Given the description of an element on the screen output the (x, y) to click on. 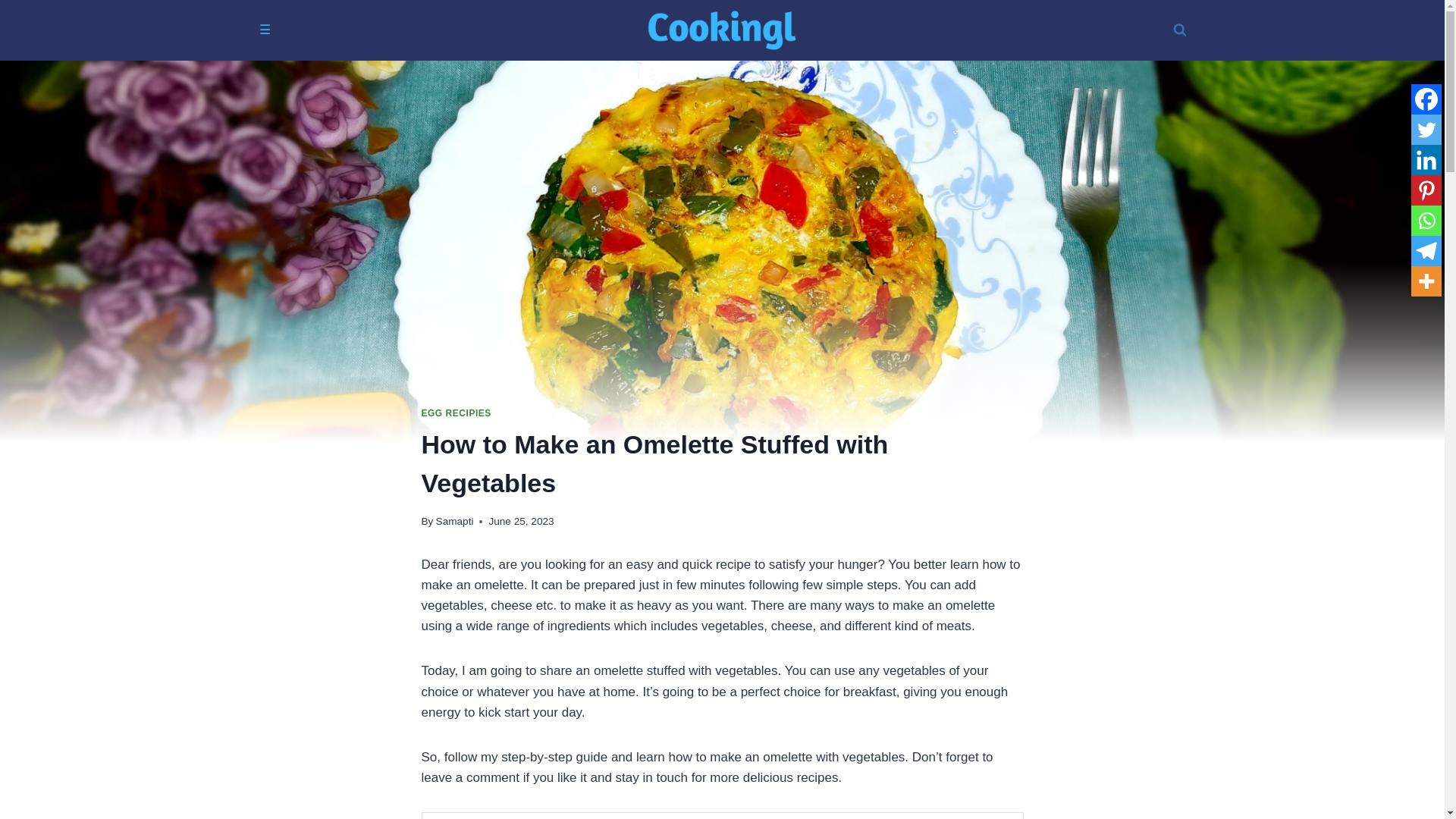
Pinterest (1425, 190)
Facebook (1425, 99)
Telegram (1425, 250)
Twitter (1425, 129)
Samapti (454, 521)
Linkedin (1425, 159)
More (1425, 281)
EGG RECIPIES (457, 412)
Whatsapp (1425, 220)
